Given the description of an element on the screen output the (x, y) to click on. 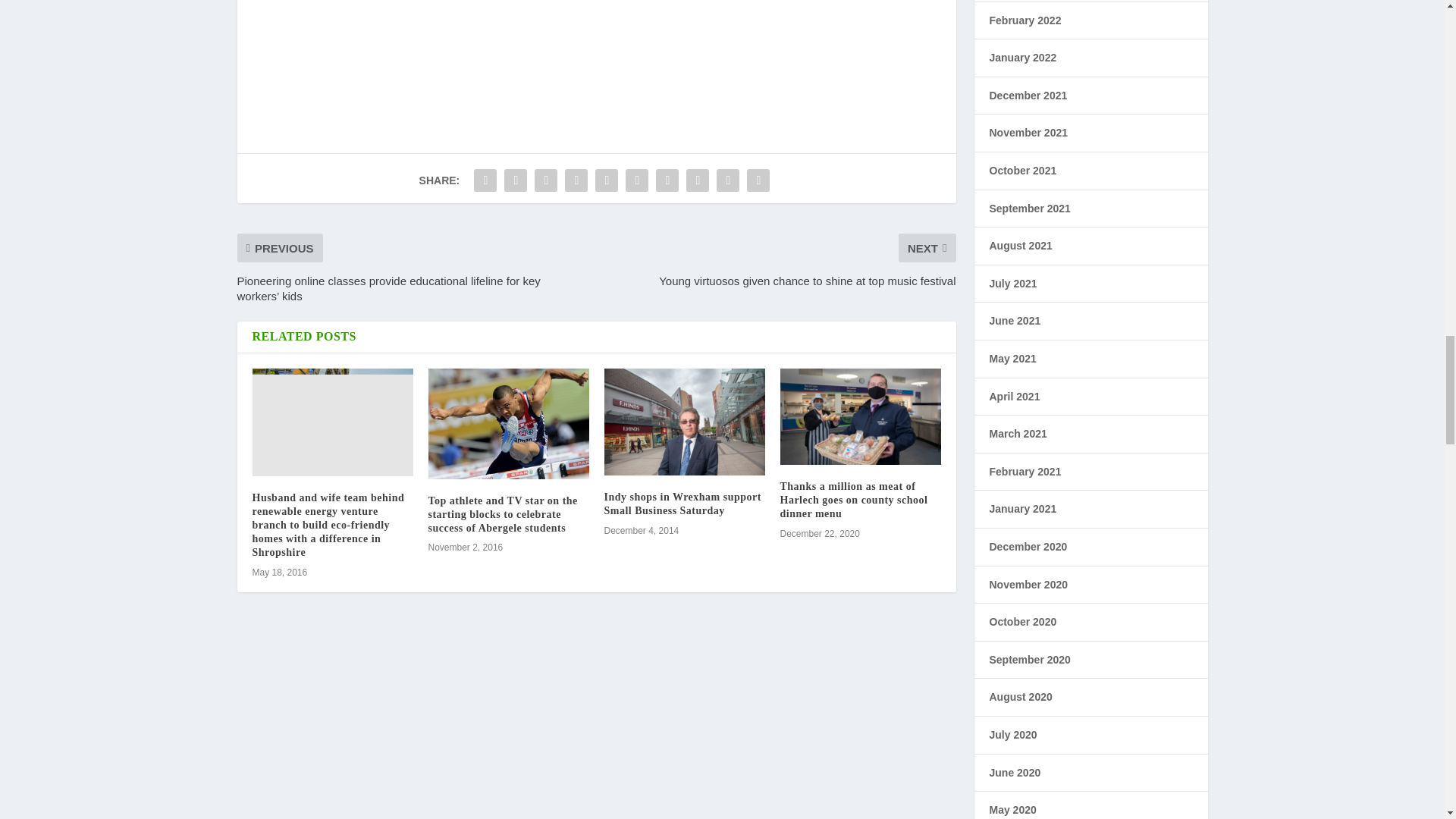
Indy shops in Wrexham support Small Business Saturday (684, 421)
Indy shops in Wrexham support Small Business Saturday (682, 503)
